Given the description of an element on the screen output the (x, y) to click on. 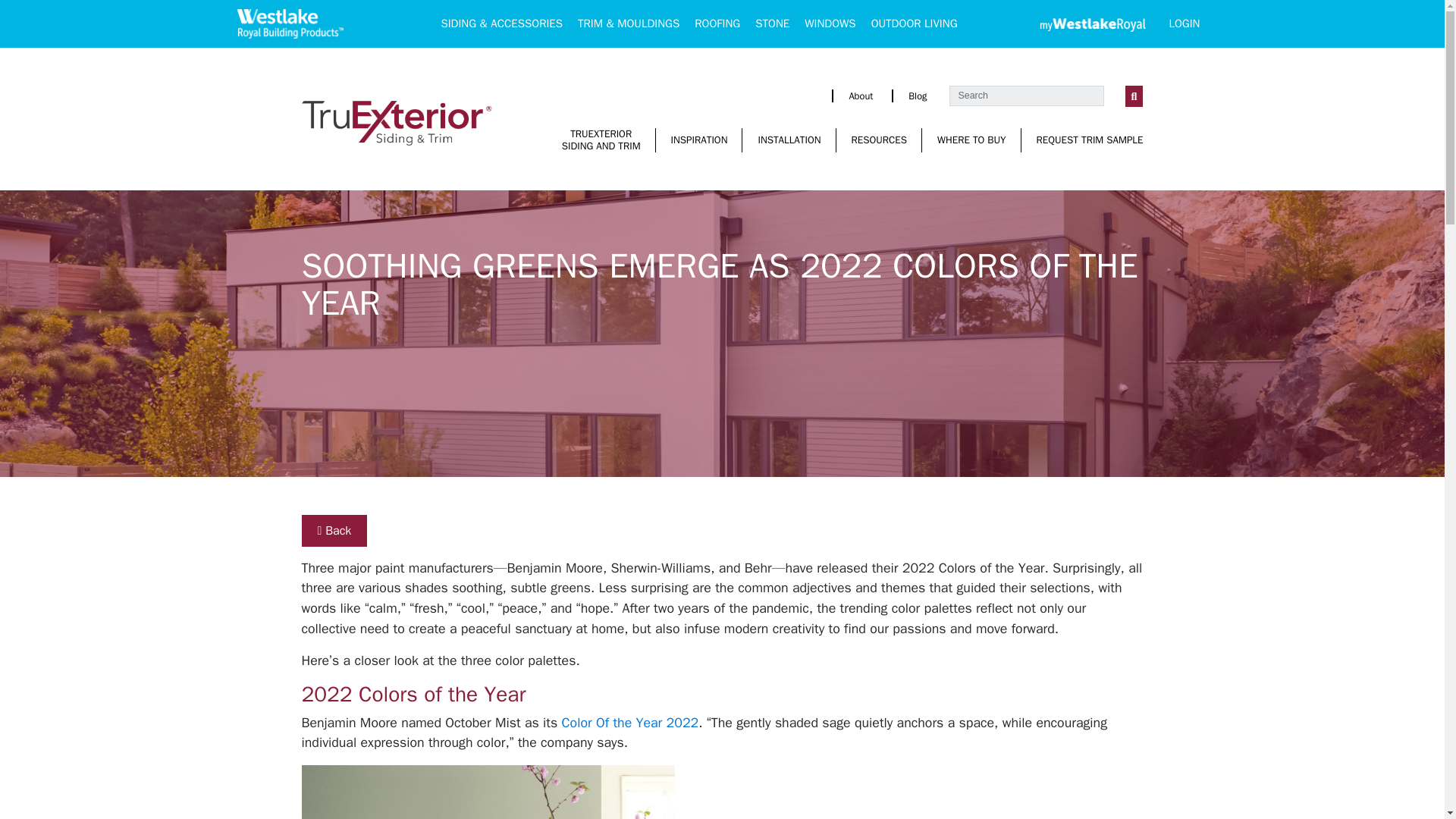
REQUEST TRIM SAMPLE (1089, 139)
Blog (917, 95)
WINDOWS (829, 23)
INSTALLATION (789, 139)
About (860, 95)
LOGIN (1183, 23)
WHERE TO BUY (971, 139)
RESOURCES (601, 139)
STONE (879, 139)
